Given the description of an element on the screen output the (x, y) to click on. 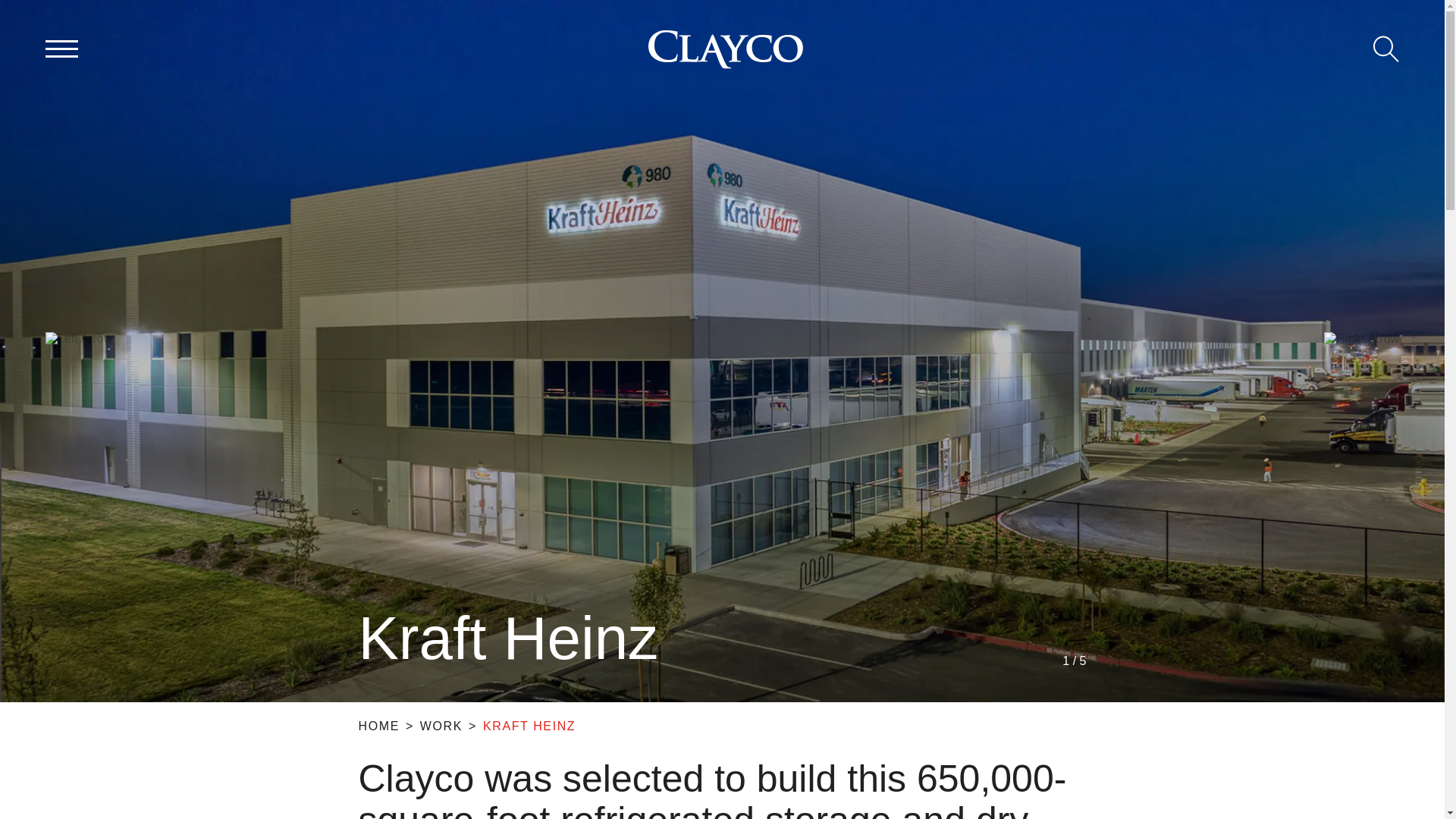
homepage (725, 49)
Search (1386, 49)
